Given the description of an element on the screen output the (x, y) to click on. 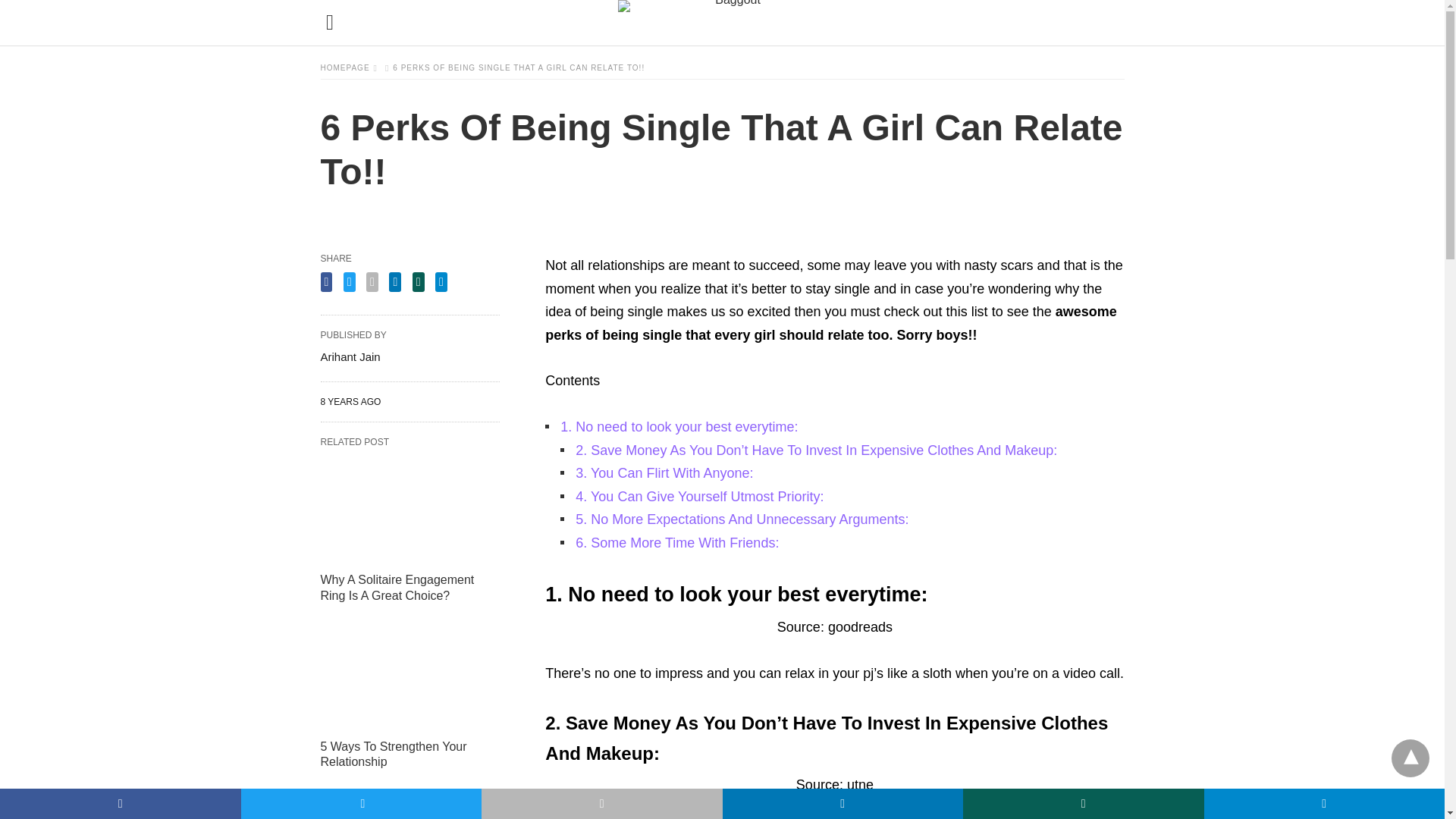
5 Ways To Strengthen Your Relationship (392, 754)
Why A Solitaire Engagement Ring Is A Great Choice? (397, 587)
Why A Solitaire Engagement Ring Is A Great Choice? (397, 587)
6. Some More Time With Friends: (676, 542)
3. You Can Flirt With Anyone: (663, 473)
4. You Can Give Yourself Utmost Priority: (699, 496)
1. No need to look your best everytime: (678, 426)
Homepage (348, 67)
Baggout (731, 22)
5. No More Expectations And Unnecessary Arguments: (741, 519)
